Given the description of an element on the screen output the (x, y) to click on. 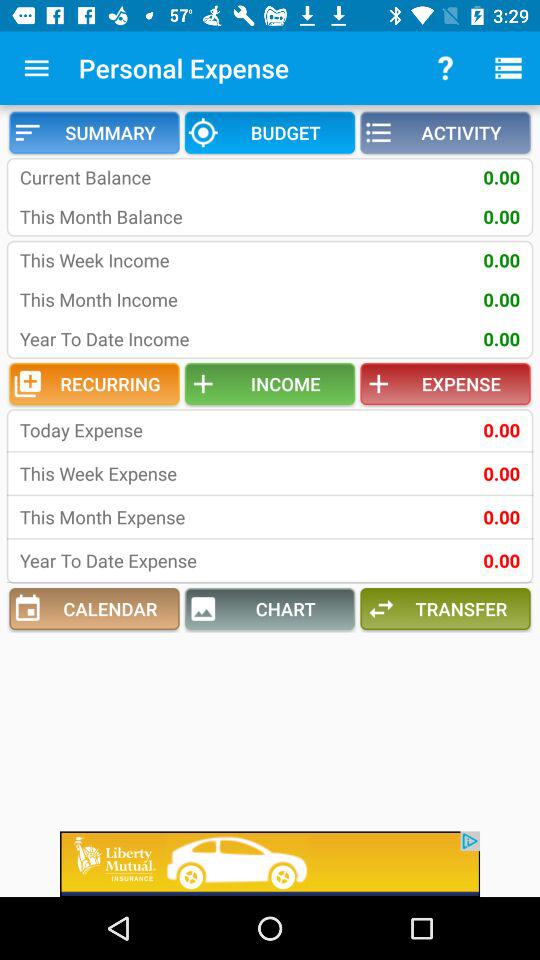
go to advertisement (270, 864)
